Given the description of an element on the screen output the (x, y) to click on. 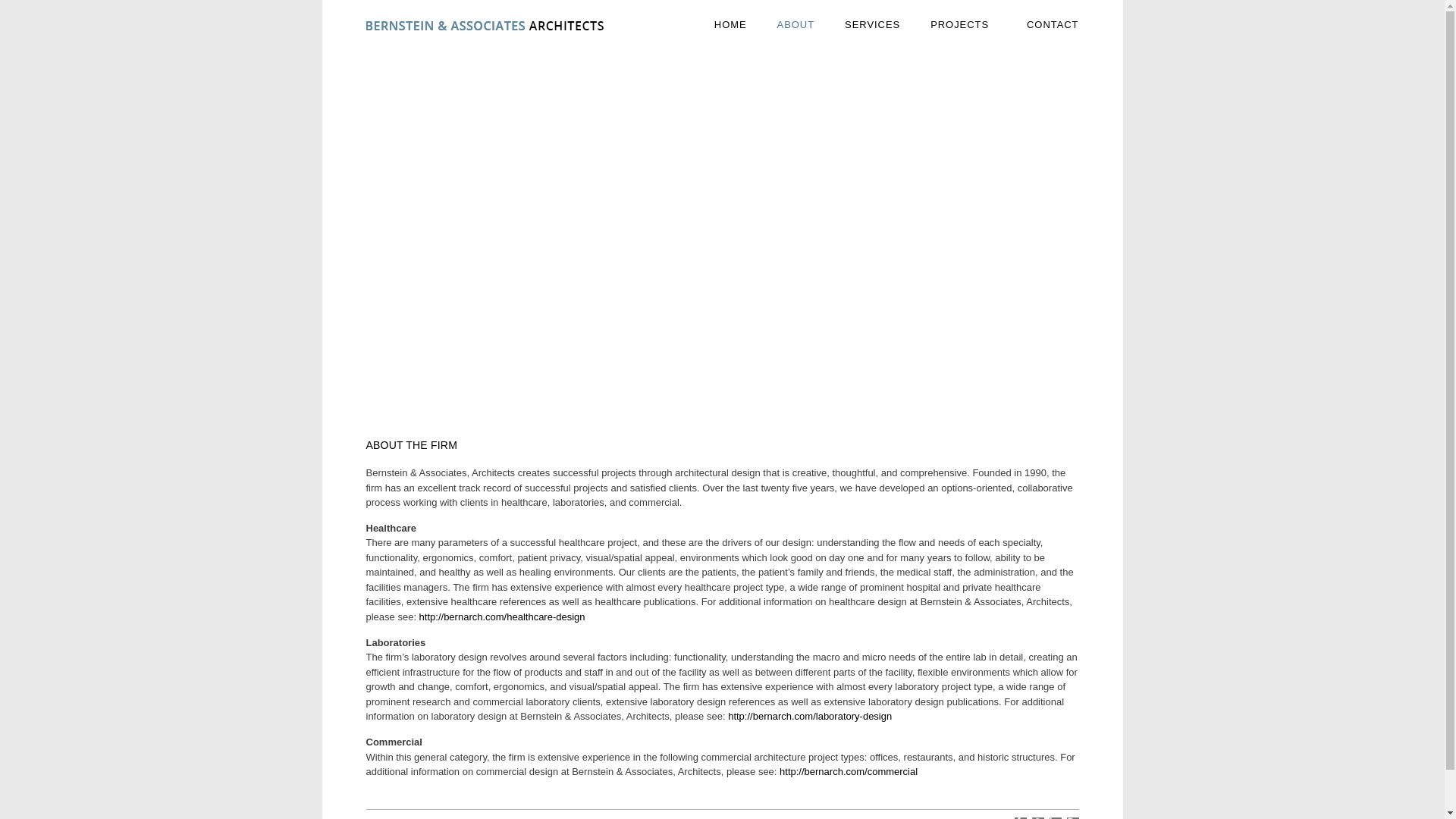
SERVICES (871, 24)
CONTACT (1052, 24)
HOME (730, 24)
PROJECTS (962, 24)
ABOUT (796, 24)
